Given the description of an element on the screen output the (x, y) to click on. 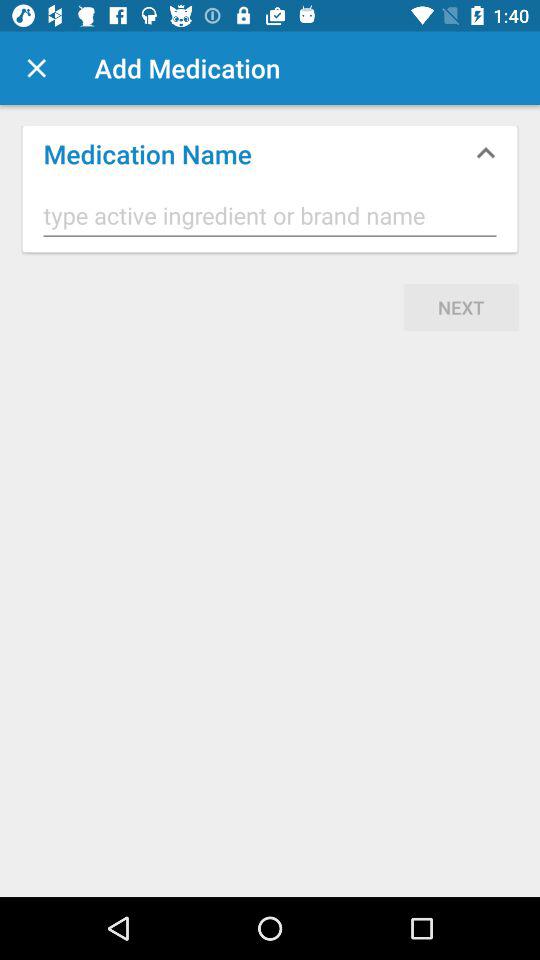
flip until the next item (461, 307)
